Given the description of an element on the screen output the (x, y) to click on. 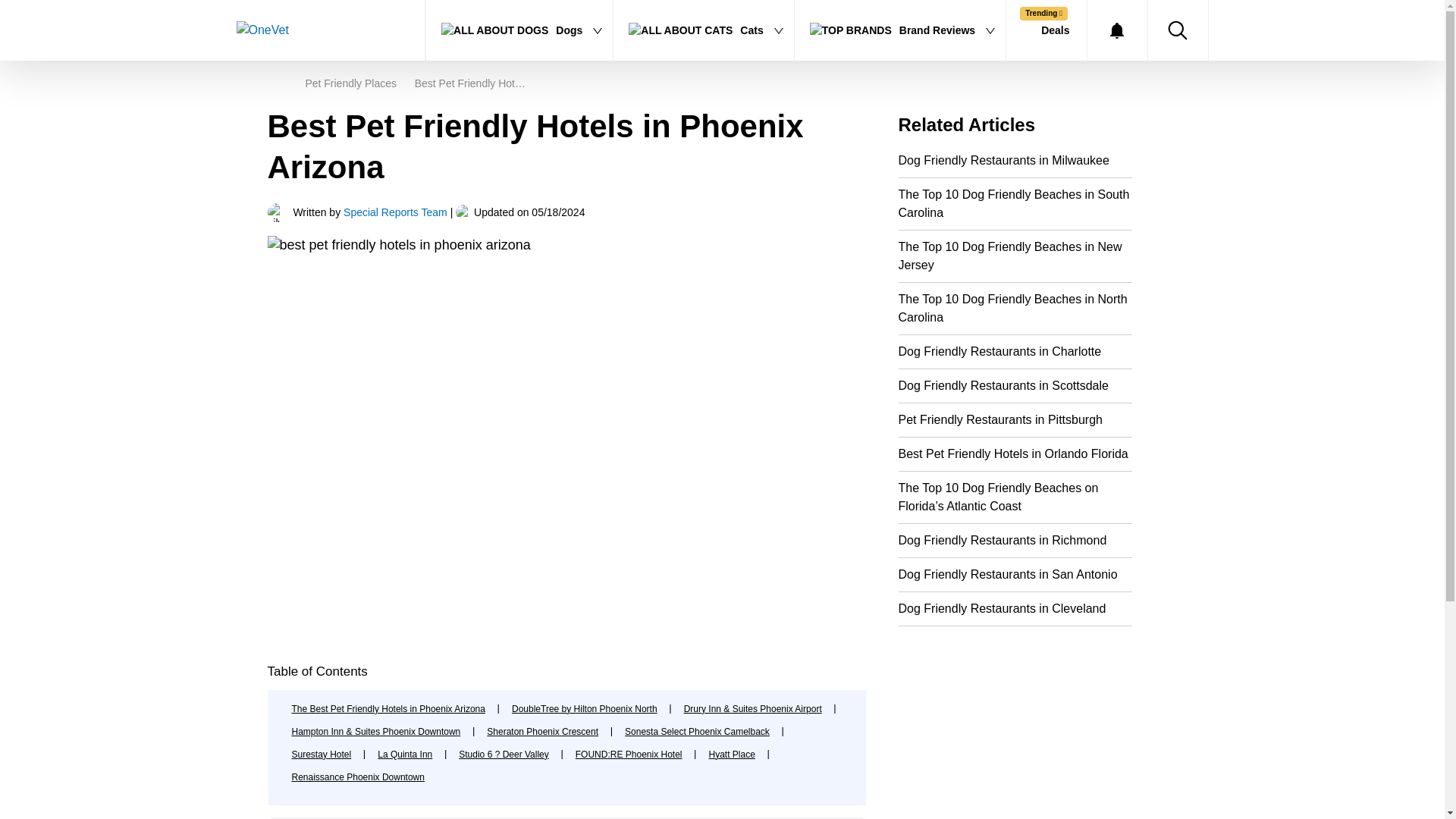
Cats (702, 30)
Dogs (519, 30)
Dogs (519, 30)
Cats (702, 30)
OneVet (313, 30)
Brand Reviews (900, 30)
